Given the description of an element on the screen output the (x, y) to click on. 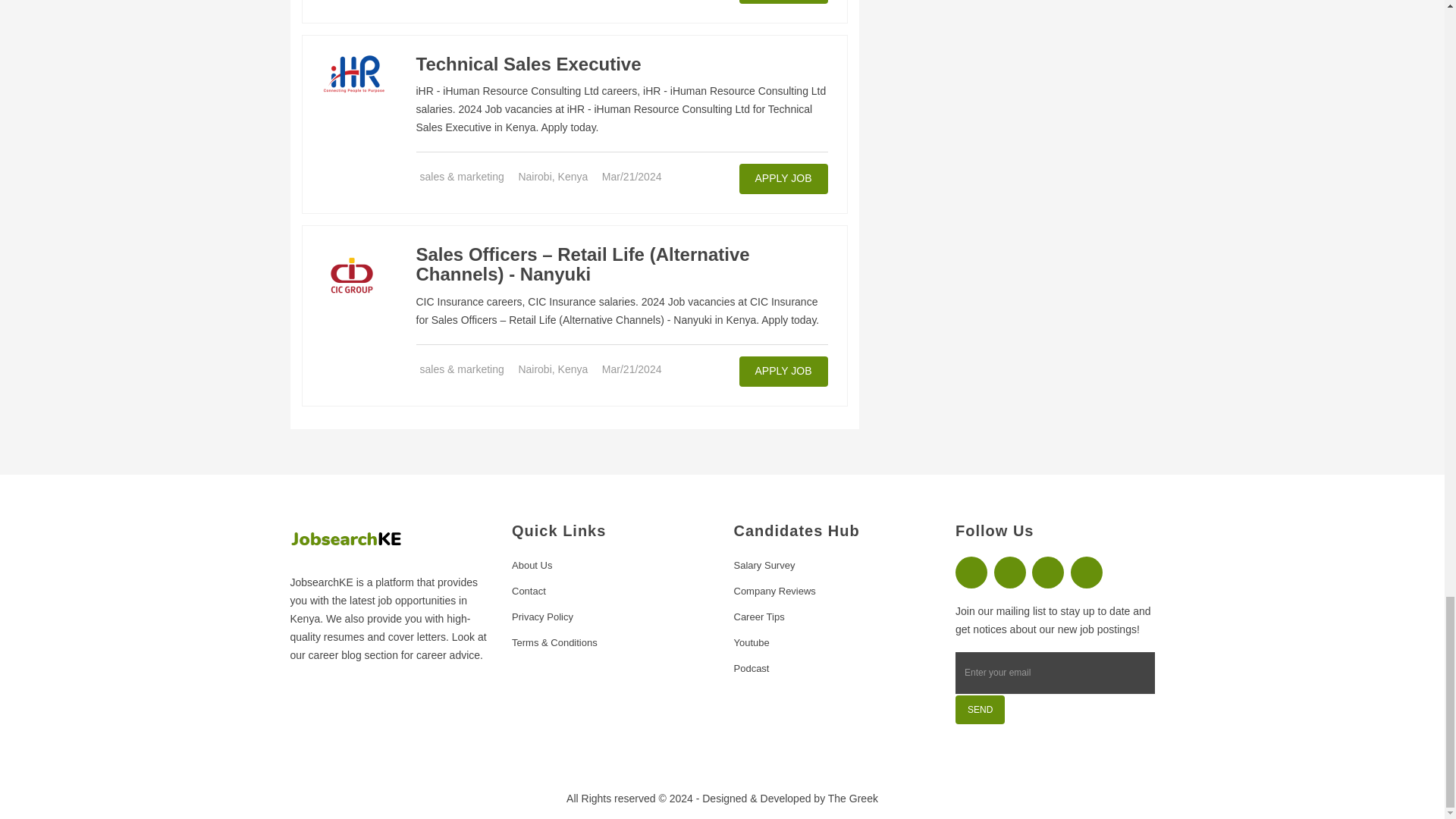
Send (979, 709)
